Given the description of an element on the screen output the (x, y) to click on. 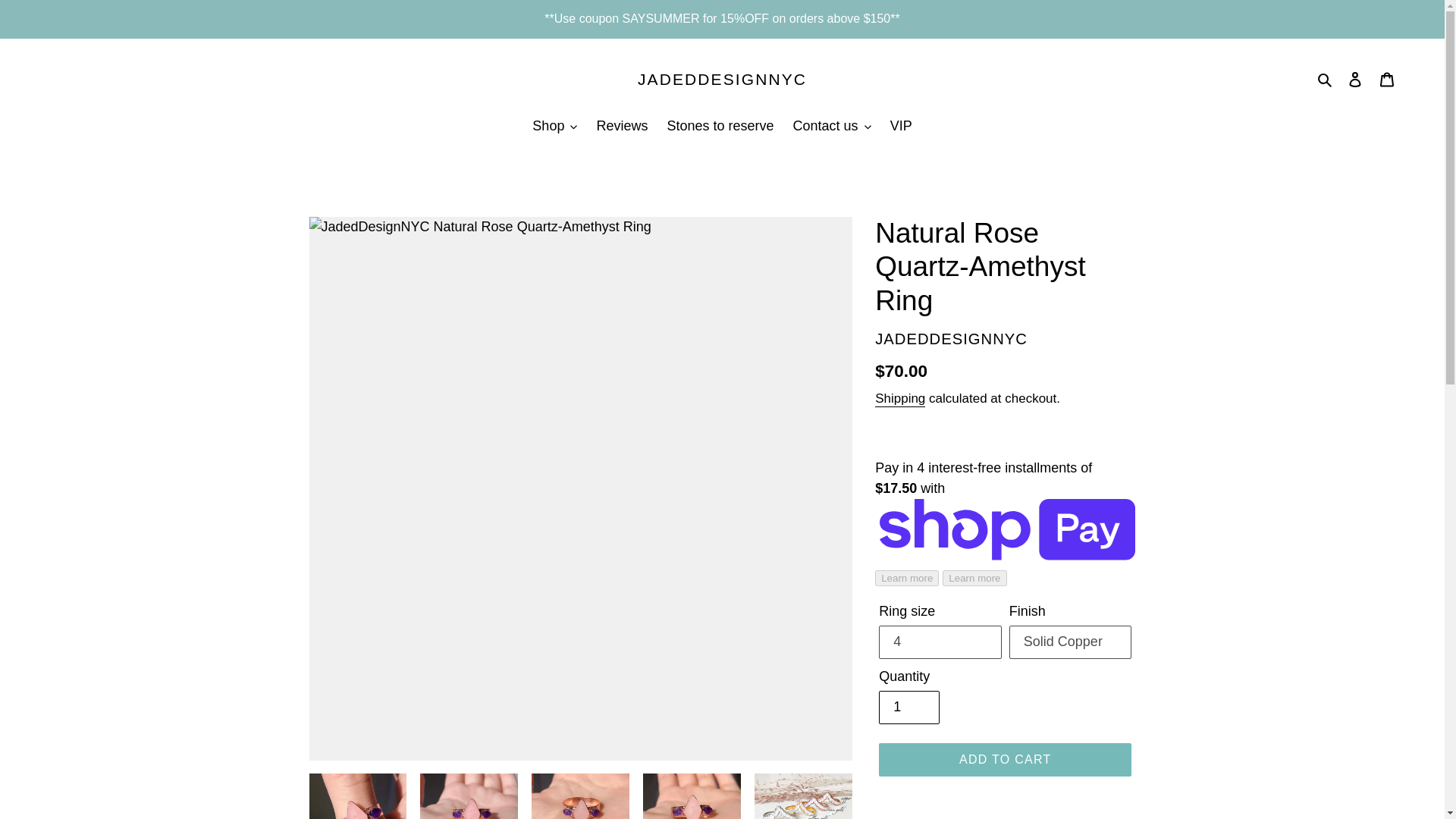
Cart (1387, 79)
1 (909, 707)
JADEDDESIGNNYC (721, 78)
Search (1326, 78)
Log in (1355, 79)
